Given the description of an element on the screen output the (x, y) to click on. 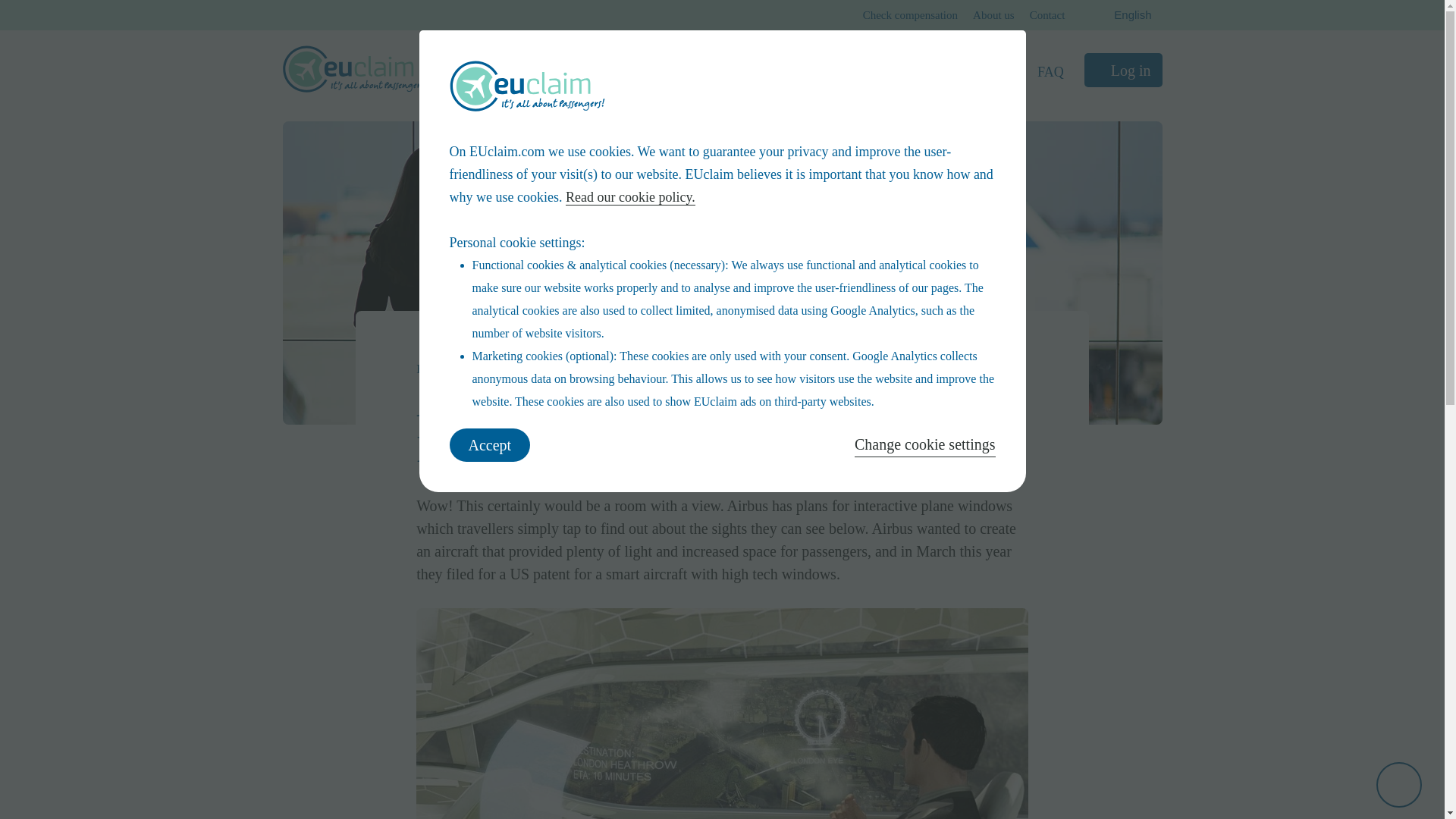
Blog (487, 368)
FAQ (1050, 71)
Check compensation (910, 15)
Log in (1122, 69)
Contact (1047, 15)
Flight cancelled (555, 71)
Missed connection (770, 71)
Flight delayed (658, 71)
About us (993, 15)
Denied boarding (887, 71)
